Given the description of an element on the screen output the (x, y) to click on. 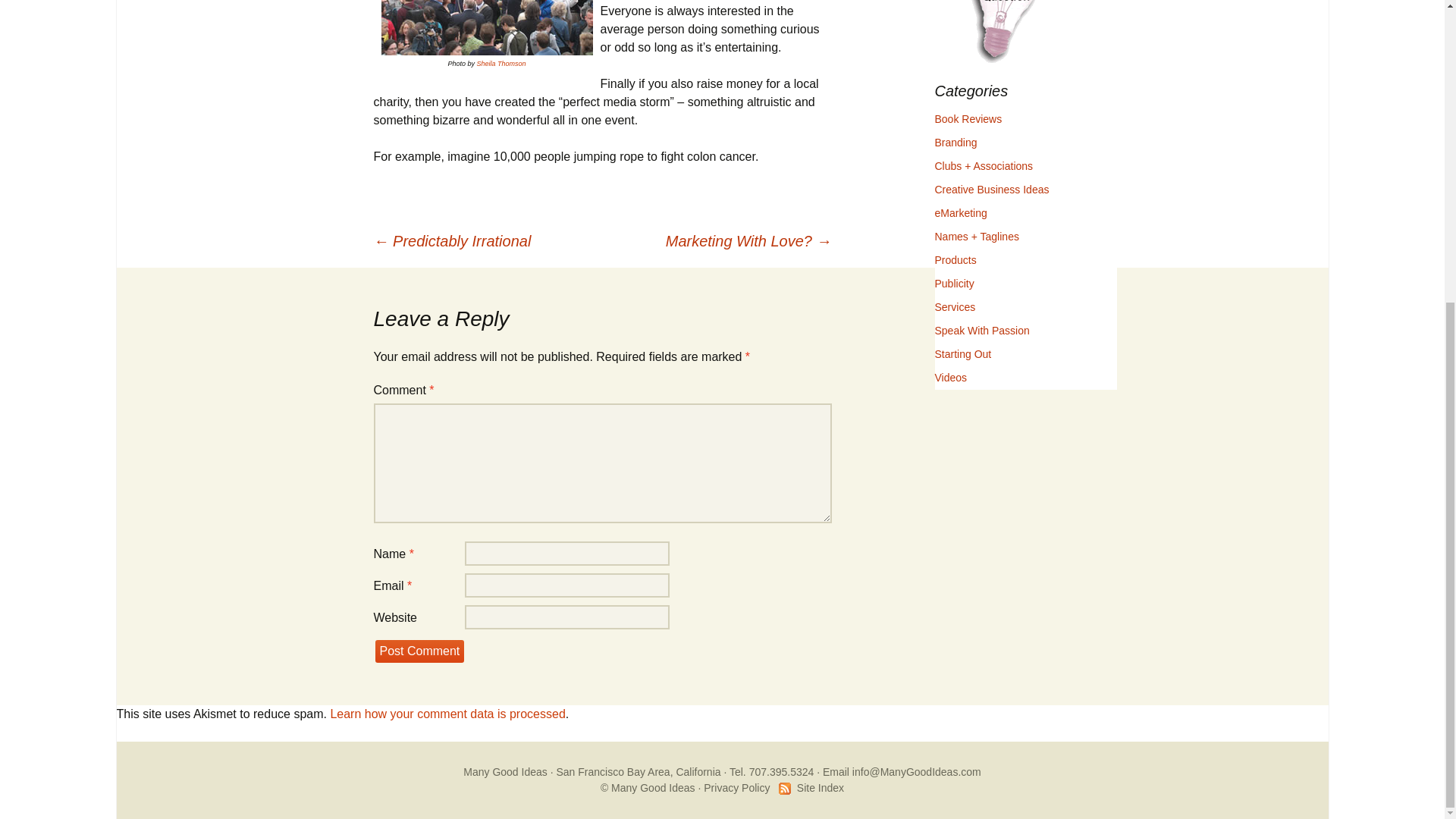
Sheila Thomson (500, 63)
Learn how your comment data is processed (447, 713)
Creative Business Ideas (991, 189)
Branding (955, 142)
eMarketing (960, 213)
Post Comment (419, 650)
Many Good Ideas: Creative Marketing Strategy Consultant (505, 771)
Products (954, 259)
Speak With Passion (981, 330)
Post Comment (419, 650)
